Given the description of an element on the screen output the (x, y) to click on. 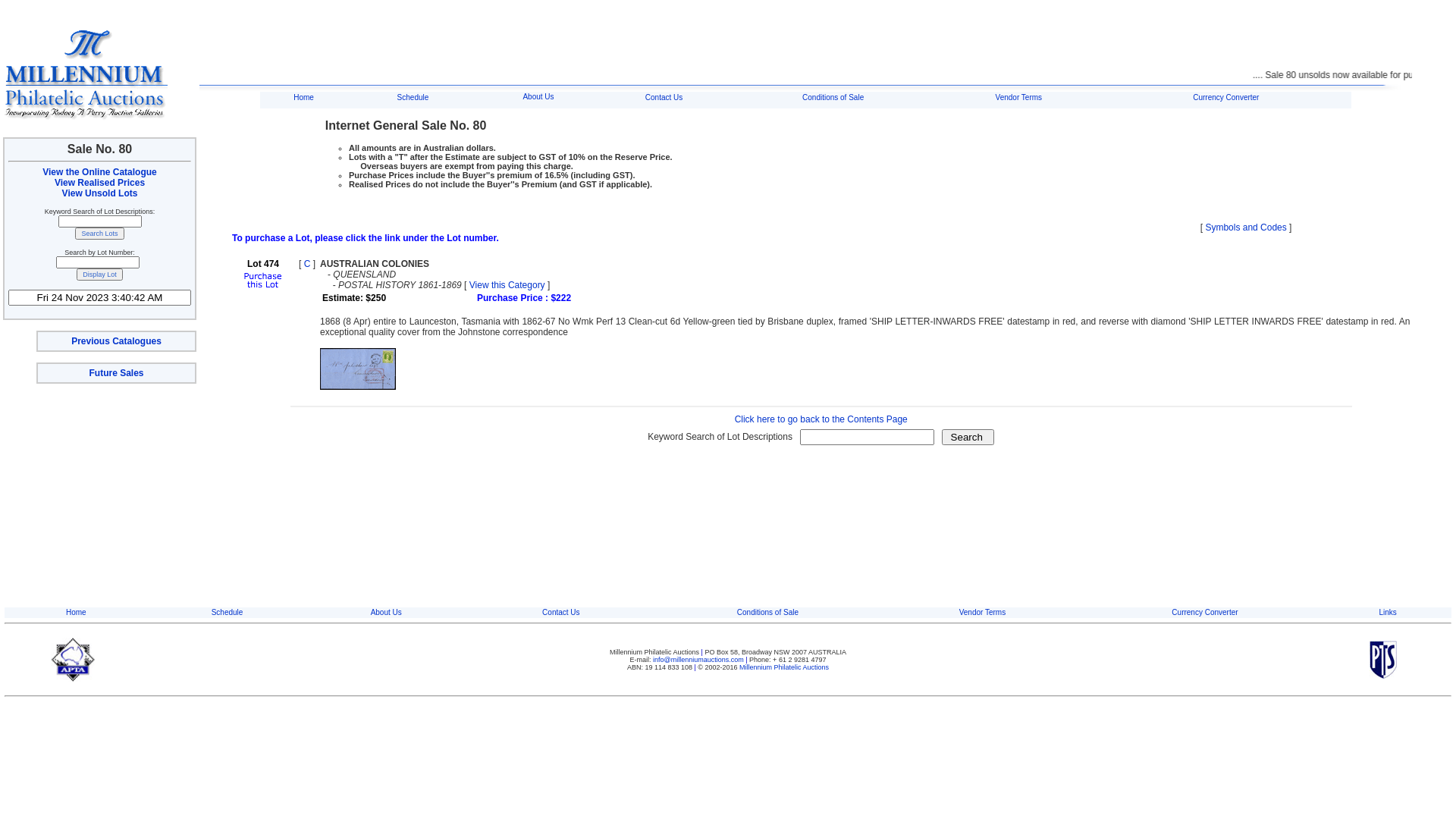
Purchase this Lot Element type: hover (263, 287)
Display Lot Element type: text (99, 274)
Currency Converter Element type: text (1204, 612)
Home Element type: text (75, 612)
Home Element type: text (303, 97)
info@millenniumauctions.com Element type: text (698, 659)
Millennium Philatelic Auctions Element type: text (783, 667)
Vendor Terms Element type: text (1018, 97)
About Us Element type: text (537, 96)
Links Element type: text (1387, 612)
Schedule Element type: text (227, 612)
 Search   Element type: text (967, 437)
Search Lots Element type: text (99, 233)
Schedule Element type: text (413, 97)
Contact Us Element type: text (560, 612)
Conditions of Sale Element type: text (832, 97)
Currency Converter Element type: text (1225, 97)
Symbols and Codes Element type: text (1245, 227)
View Realised Prices Element type: text (99, 182)
C Element type: text (307, 263)
Click here to go back to the Contents Page Element type: text (820, 419)
Conditions of Sale Element type: text (767, 612)
Vendor Terms Element type: text (982, 612)
Previous Catalogues Element type: text (116, 340)
Contact Us Element type: text (663, 97)
View the Online Catalogue Element type: text (99, 171)
About Us Element type: text (385, 612)
Future Sales Element type: text (115, 372)
View this Category Element type: text (507, 284)
View Unsold Lots Element type: text (100, 193)
